Given the description of an element on the screen output the (x, y) to click on. 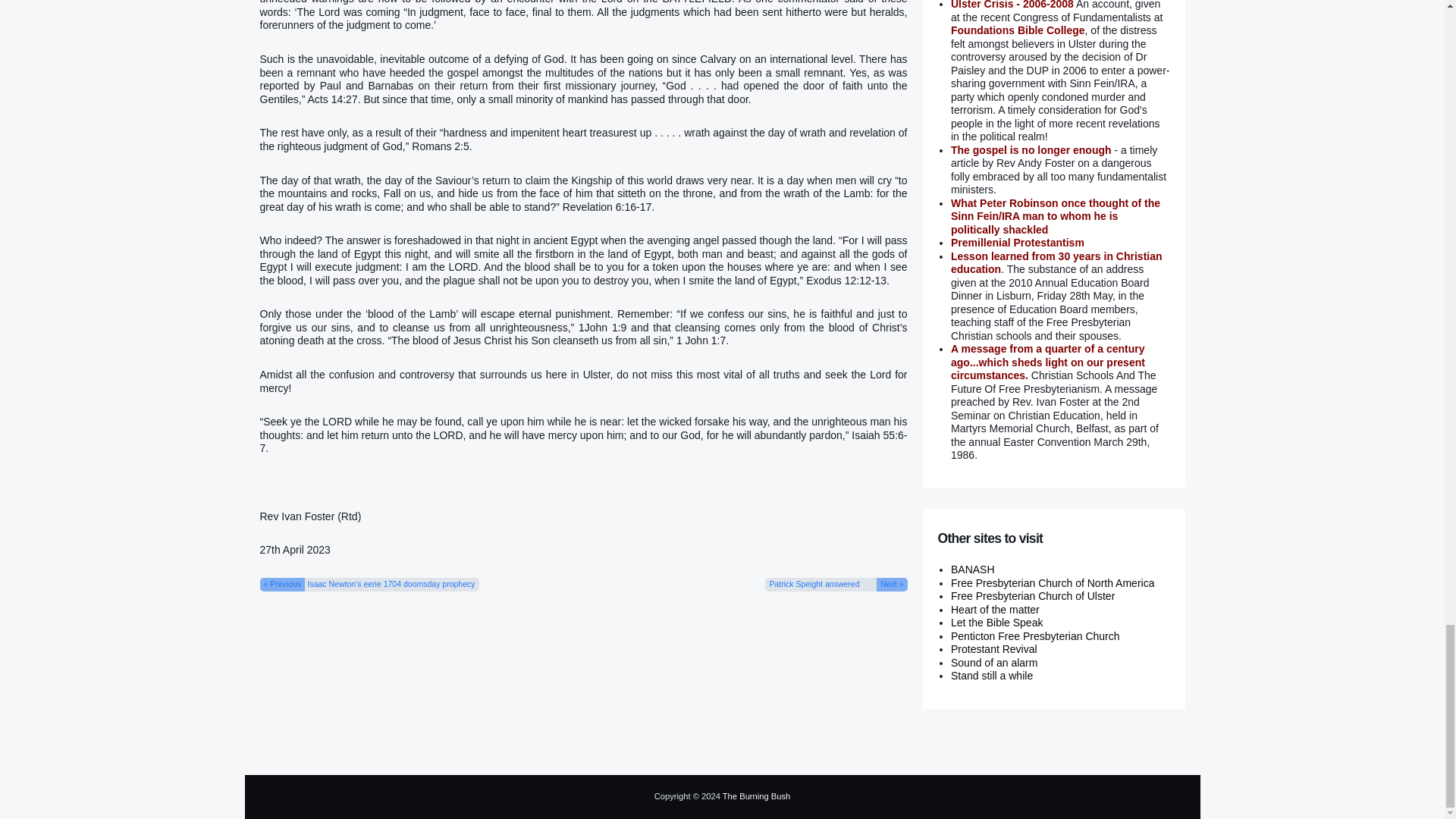
The gospel is no longer enough (1031, 150)
BANASH (972, 569)
LTBS radio ministry (996, 622)
Penticton FPC website (1034, 635)
Foundations Bible College (1017, 30)
Ministry of Rev. Ralph Ovadal (994, 609)
FPCoU website (1032, 595)
Lesson learned from 30 years in Christian education (1055, 263)
Ulster Crisis - 2006-2008 (1012, 4)
